Given the description of an element on the screen output the (x, y) to click on. 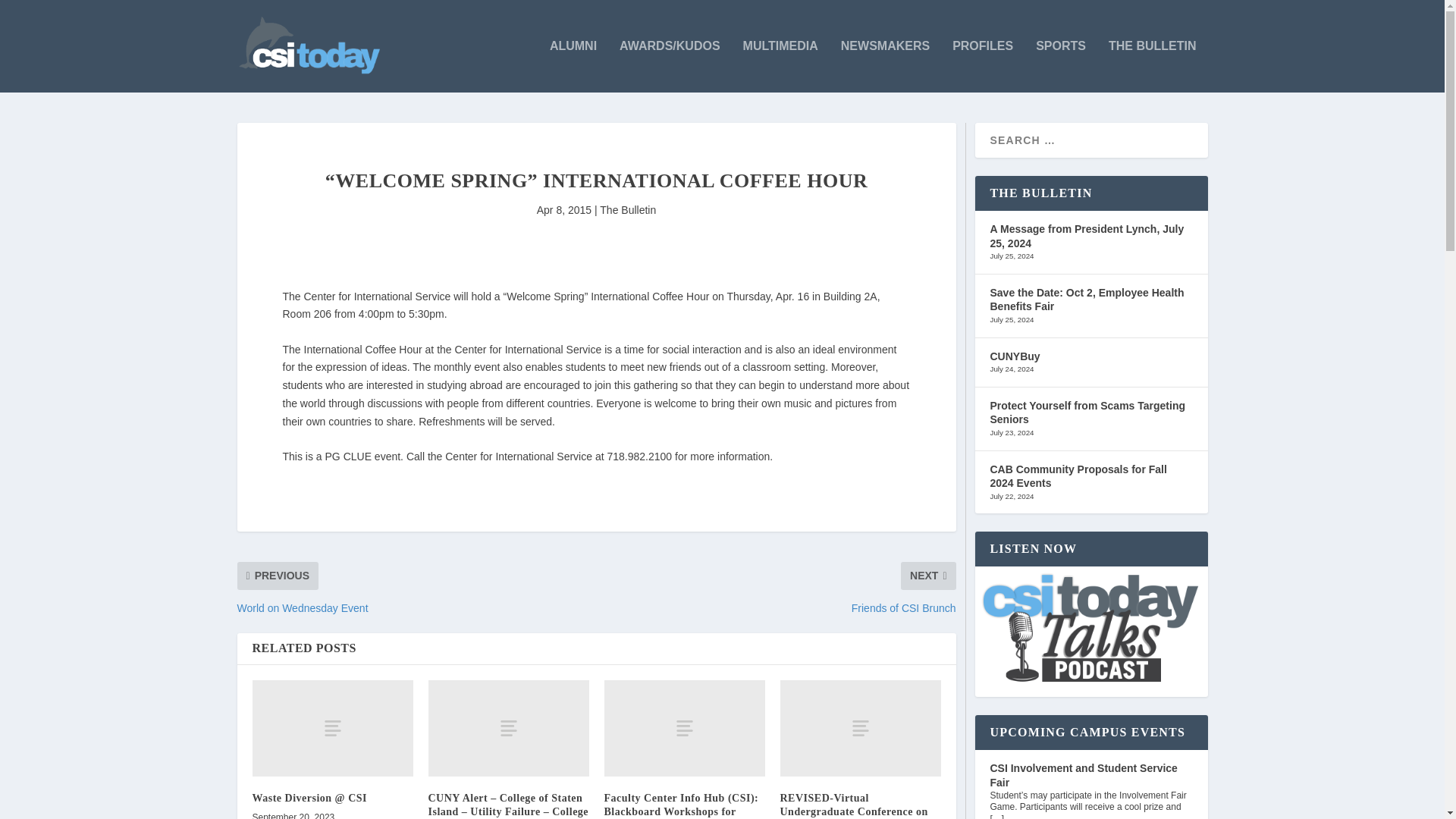
MULTIMEDIA (780, 66)
PROFILES (982, 66)
NEWSMAKERS (885, 66)
ALUMNI (573, 66)
THE BULLETIN (1152, 66)
SPORTS (1060, 66)
